Given the description of an element on the screen output the (x, y) to click on. 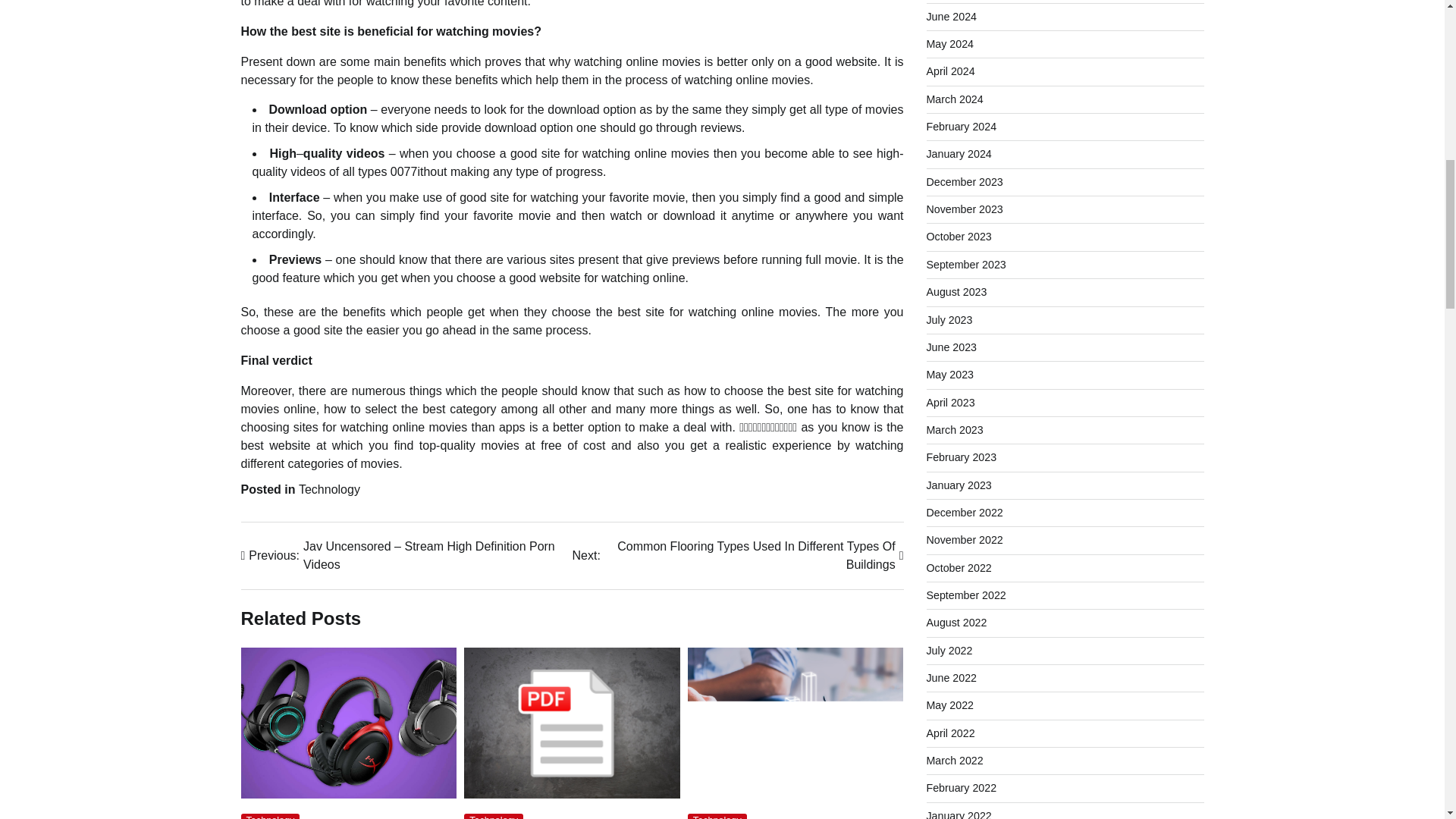
Technology (716, 816)
May 2024 (950, 43)
Technology (493, 816)
Technology (270, 816)
March 2024 (955, 99)
April 2024 (950, 70)
January 2024 (958, 153)
December 2023 (964, 182)
June 2024 (951, 16)
Technology (328, 489)
February 2024 (961, 126)
